Given the description of an element on the screen output the (x, y) to click on. 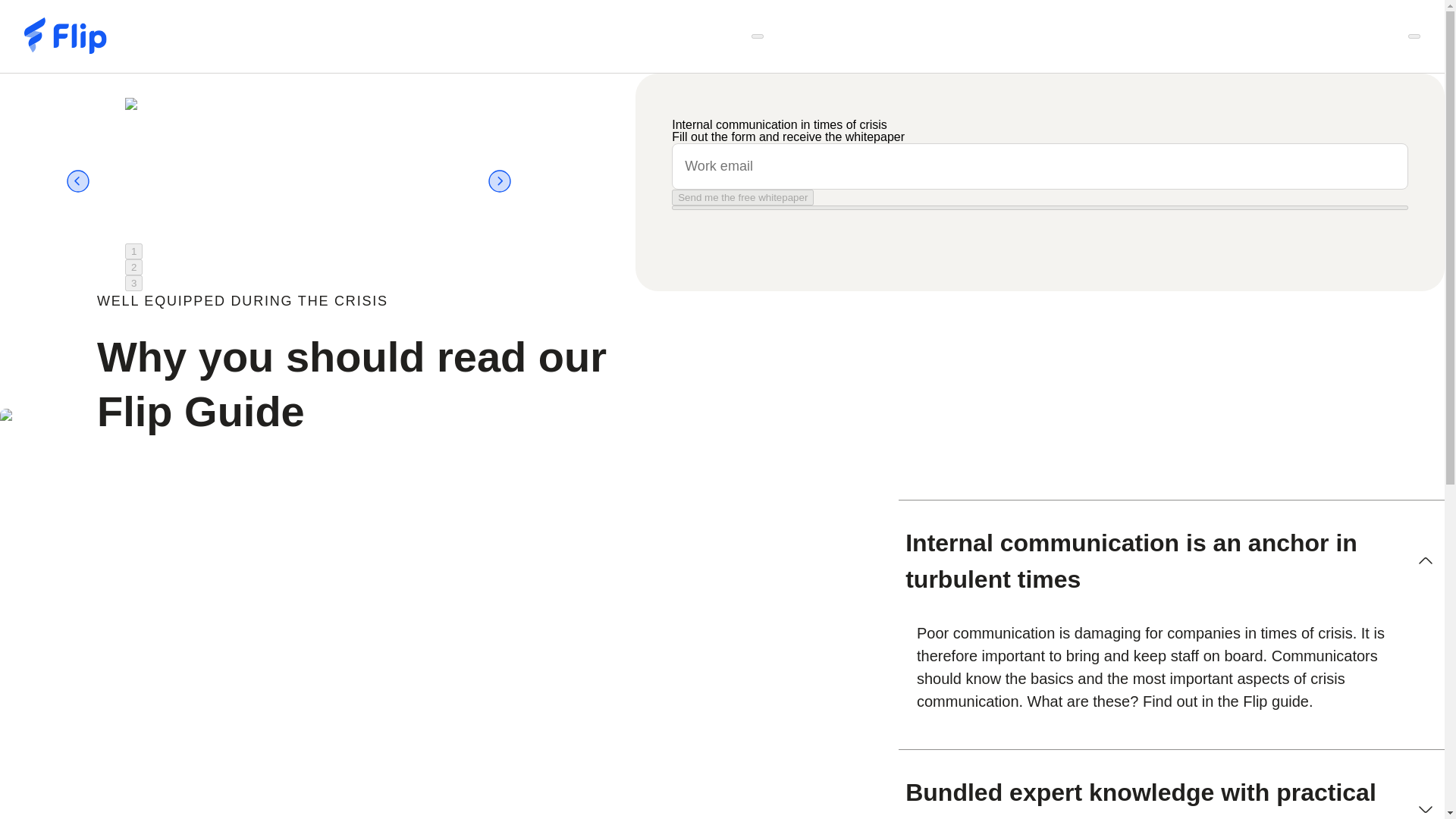
1 (133, 251)
3 (133, 283)
Send me the free whitepaper (742, 197)
2 (133, 267)
